Given the description of an element on the screen output the (x, y) to click on. 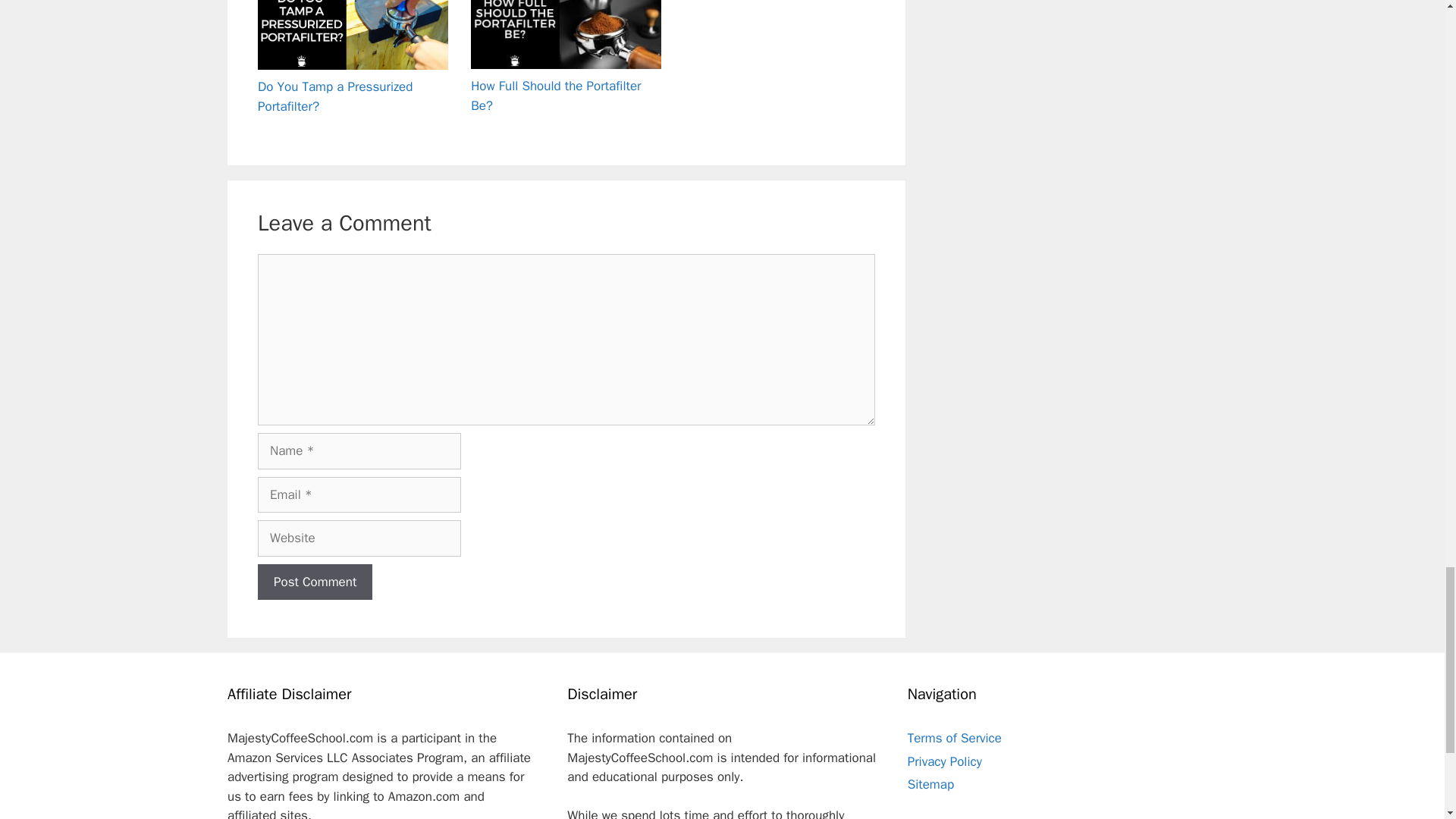
Post Comment (314, 582)
